Given the description of an element on the screen output the (x, y) to click on. 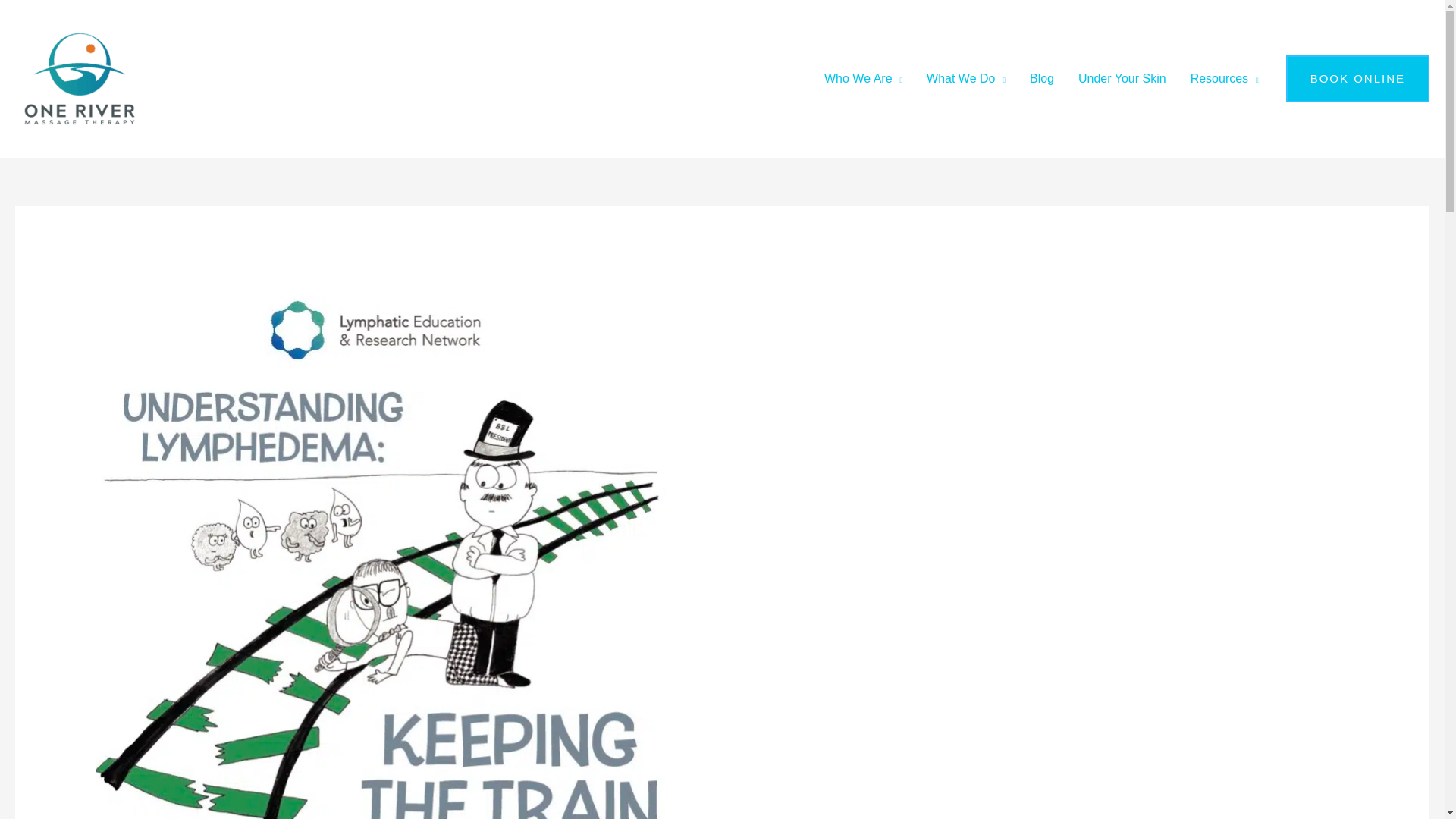
Blog (1041, 78)
What We Do (965, 78)
Who We Are (863, 78)
BOOK ONLINE (1357, 78)
Under Your Skin (1121, 78)
Resources (1224, 78)
